Given the description of an element on the screen output the (x, y) to click on. 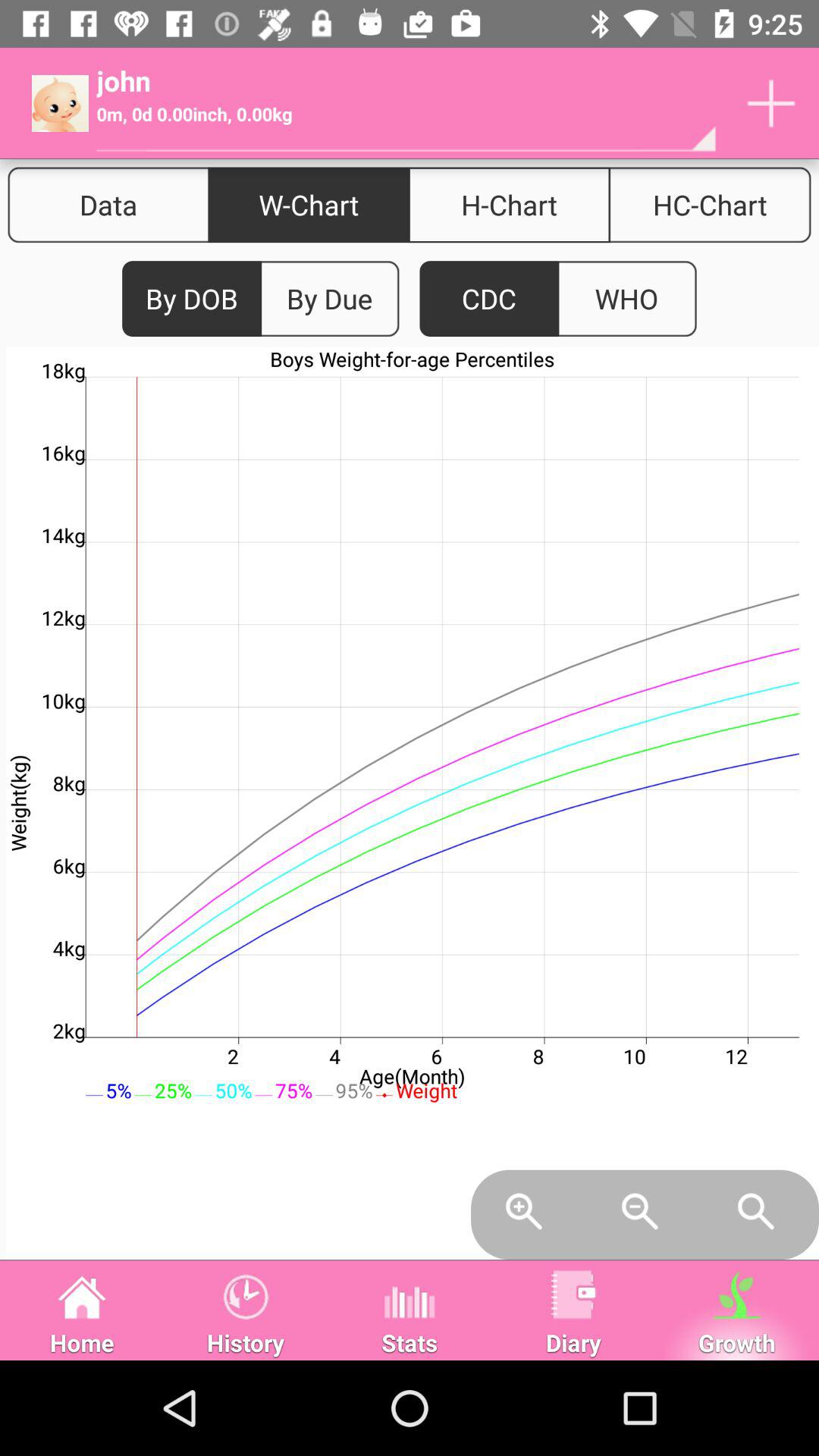
launch the item next to data (309, 204)
